Given the description of an element on the screen output the (x, y) to click on. 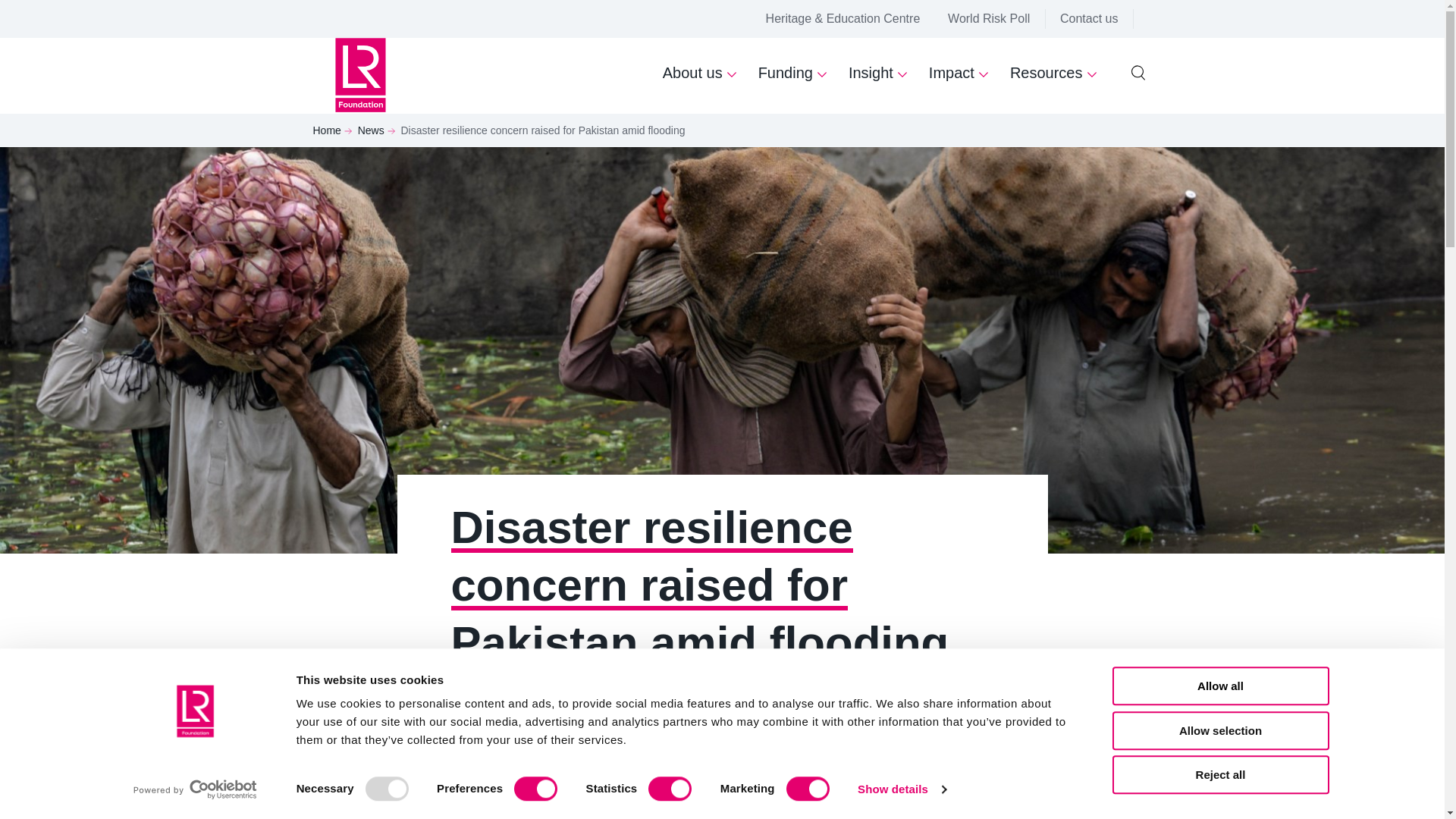
Show details (900, 789)
